Given the description of an element on the screen output the (x, y) to click on. 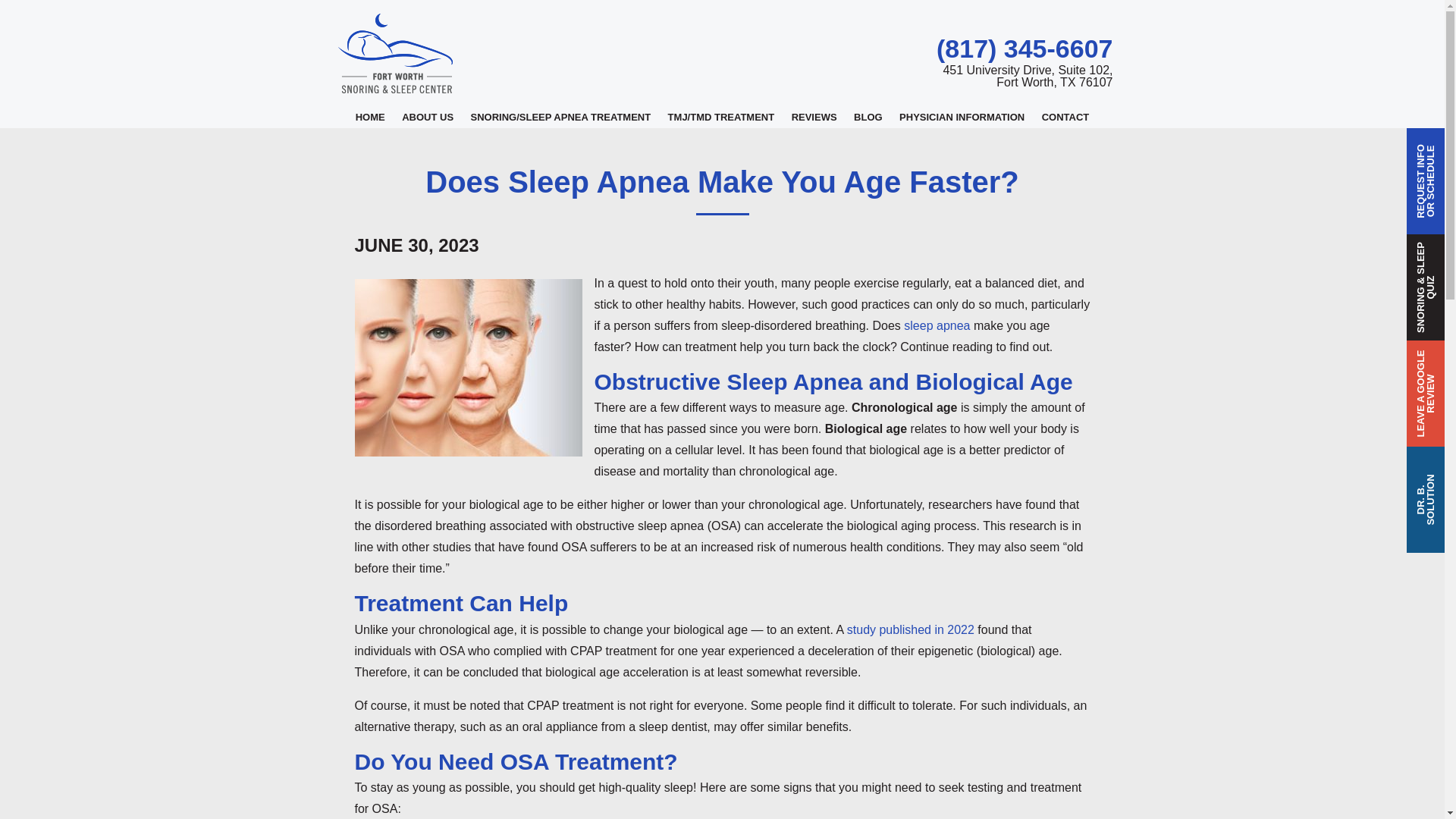
HOME (370, 117)
ABOUT US (1024, 76)
